Given the description of an element on the screen output the (x, y) to click on. 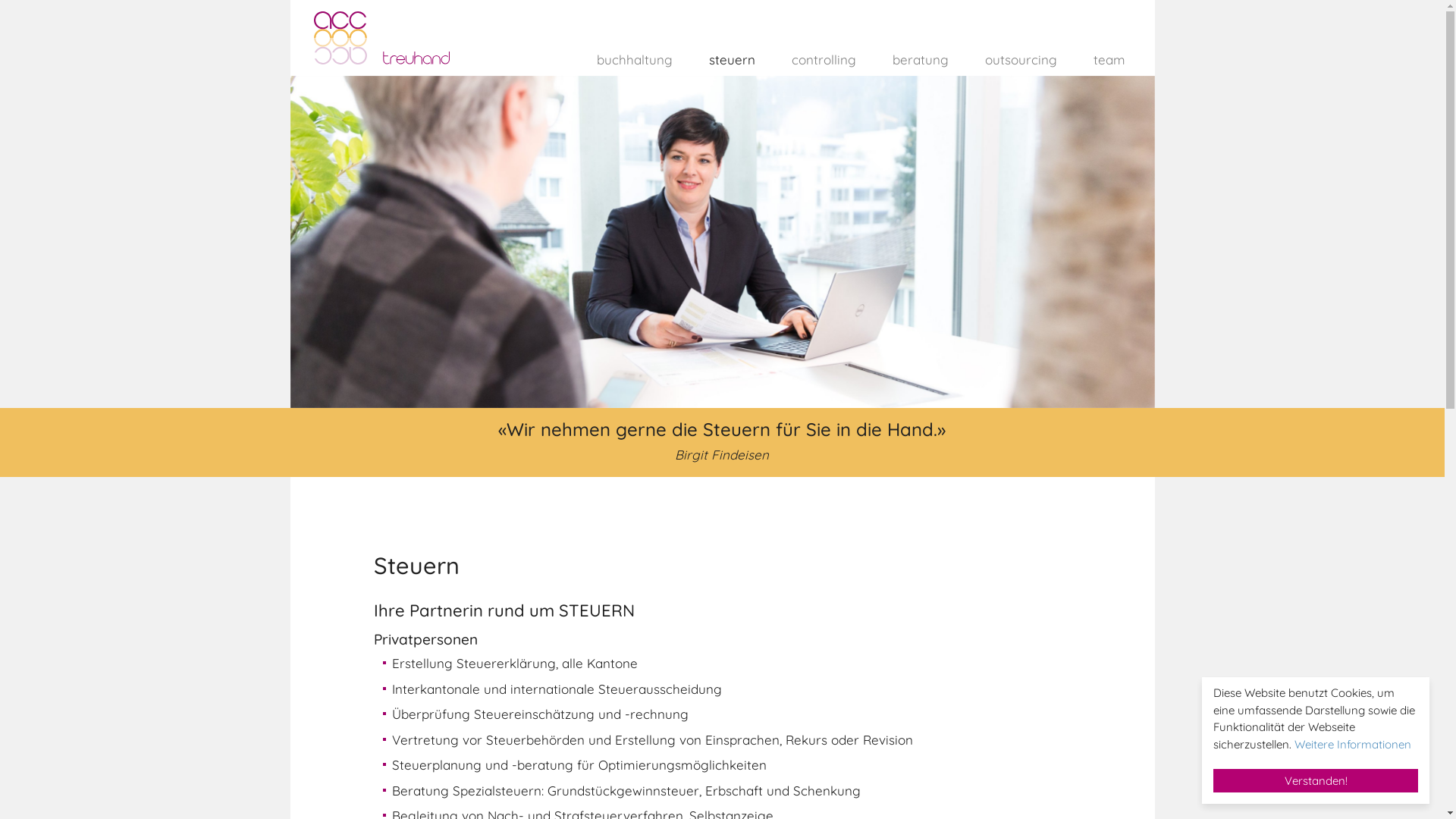
steuern Element type: text (718, 56)
outsourcing Element type: text (1007, 56)
beratung Element type: text (907, 56)
Weitere Informationen Element type: text (1352, 744)
Verstanden! Element type: text (1315, 780)
team Element type: text (1097, 56)
controlling Element type: text (811, 56)
buchhaltung Element type: text (621, 56)
